Given the description of an element on the screen output the (x, y) to click on. 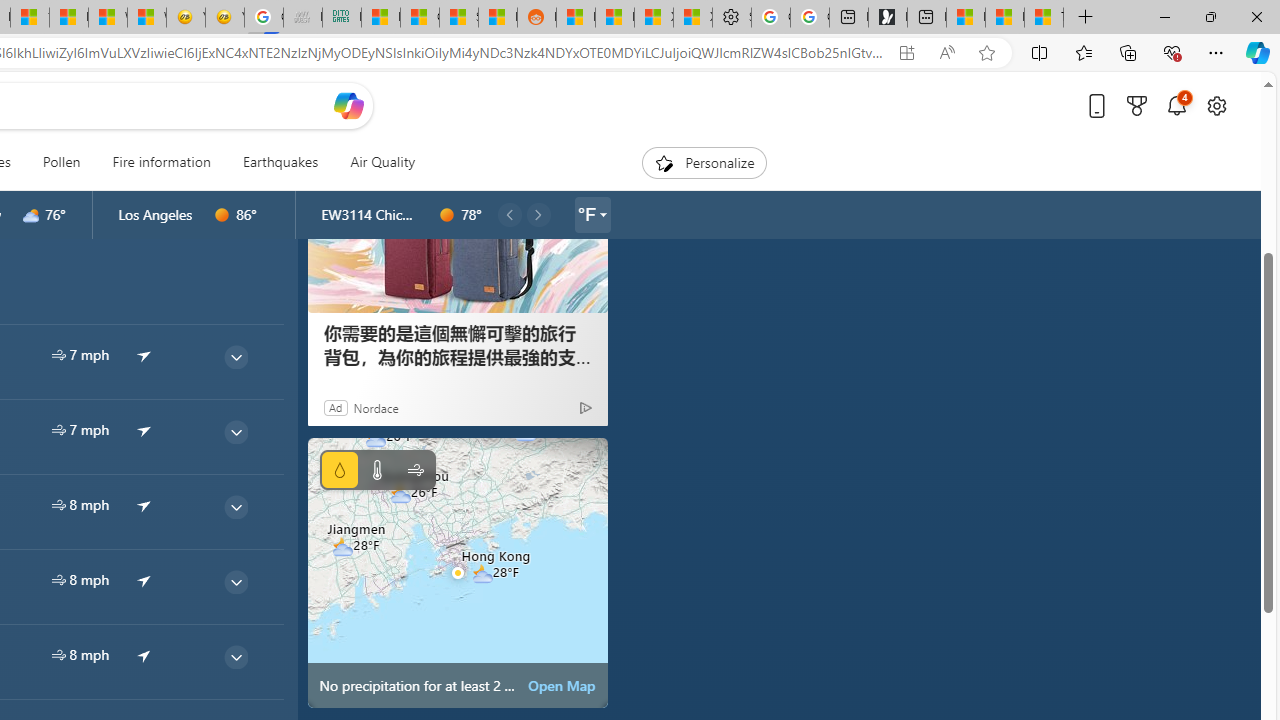
hourlyTable/wind (58, 654)
Open Map (561, 685)
Earthquakes (279, 162)
d0000 (447, 215)
